Given the description of an element on the screen output the (x, y) to click on. 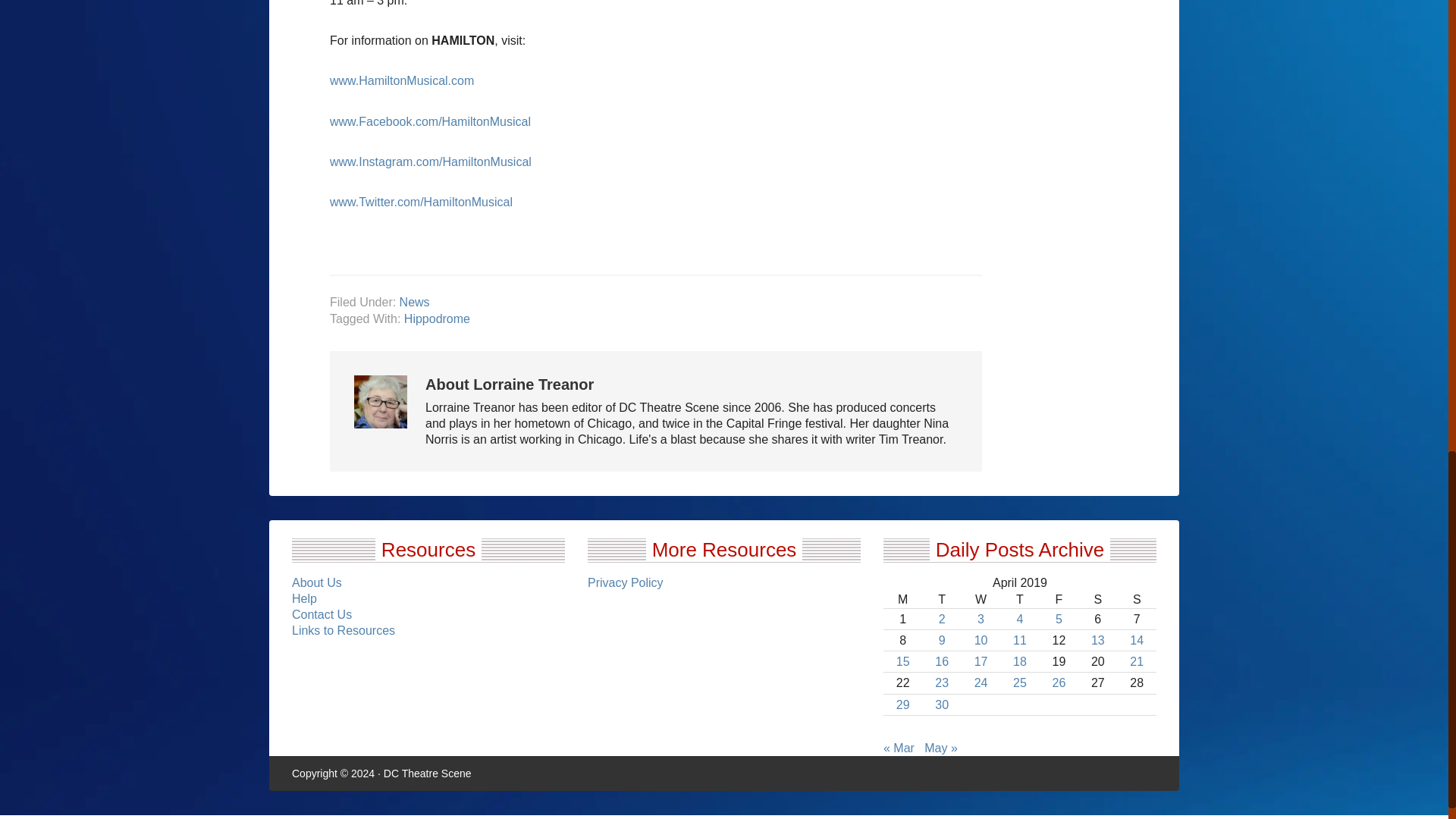
About Us (317, 582)
Friday (1058, 599)
Tuesday (940, 599)
Thursday (1019, 599)
Hippodrome (437, 318)
Saturday (1097, 599)
Wednesday (980, 599)
www.HamiltonMusical.com (402, 80)
Help (304, 598)
News (413, 301)
